Given the description of an element on the screen output the (x, y) to click on. 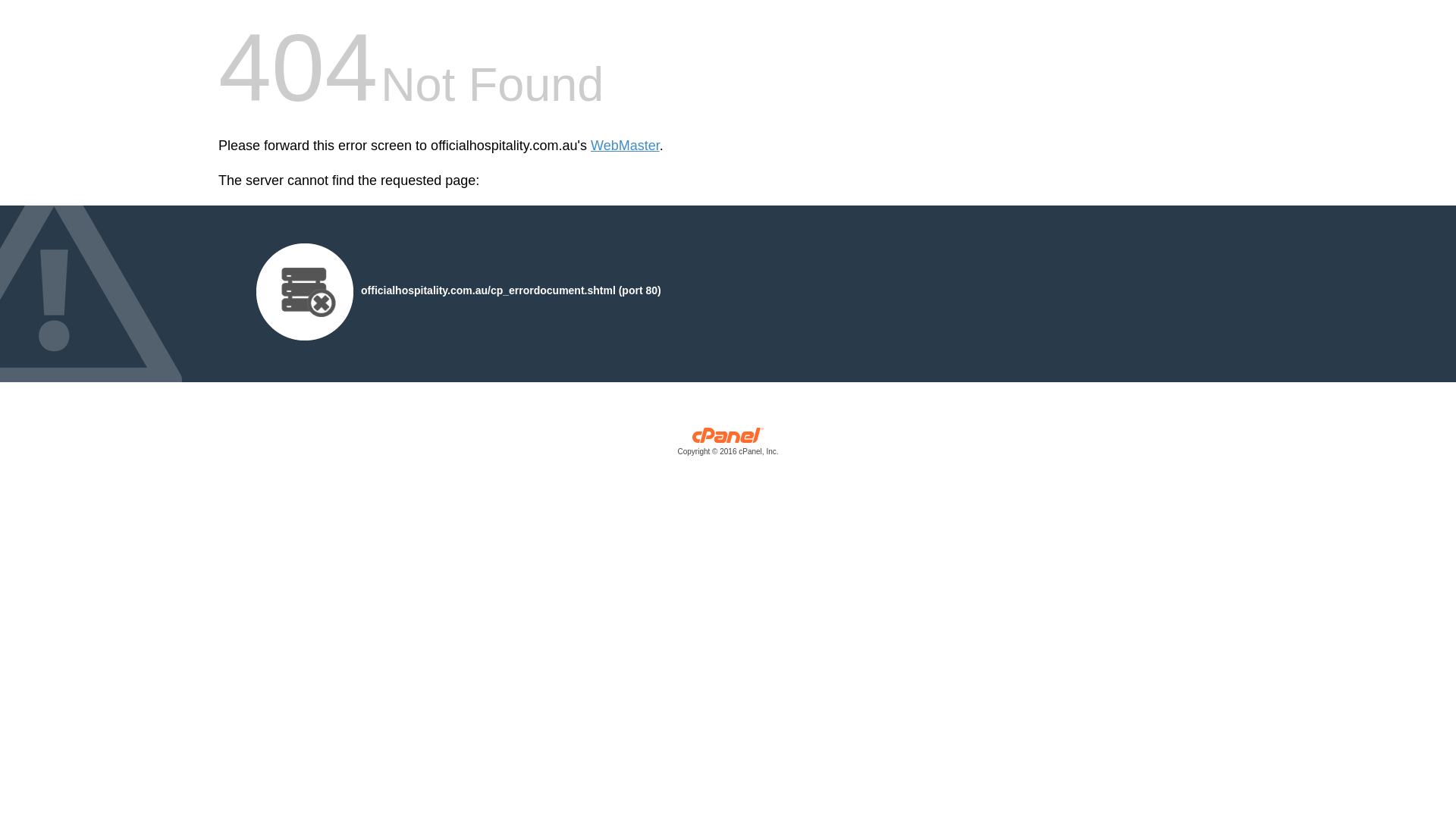
WebMaster Element type: text (624, 145)
